Given the description of an element on the screen output the (x, y) to click on. 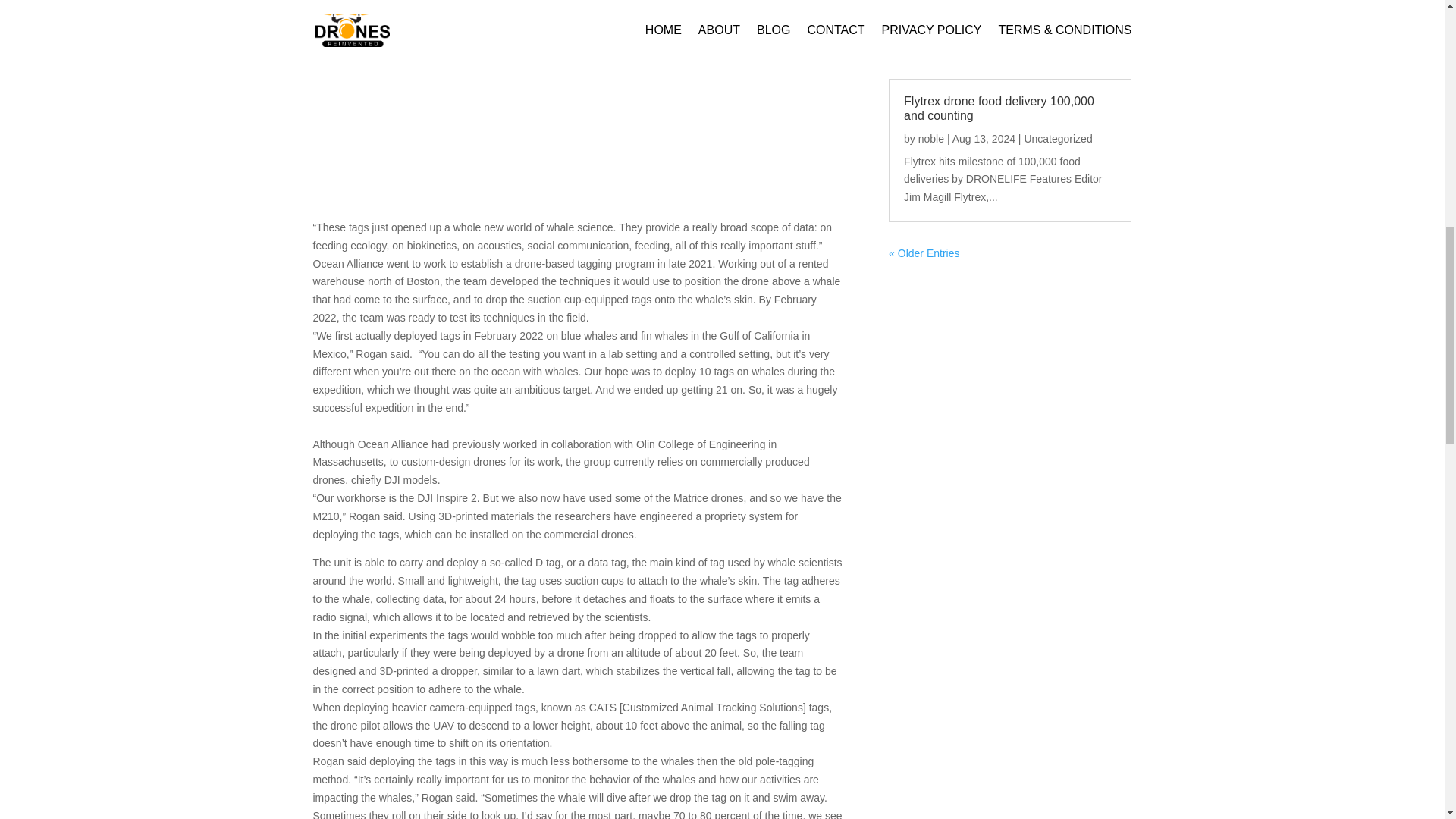
noble (930, 138)
Uncategorized (1057, 138)
Flytrex drone food delivery 100,000 and counting (999, 108)
Posts by noble (930, 138)
Advertisement (578, 100)
